Given the description of an element on the screen output the (x, y) to click on. 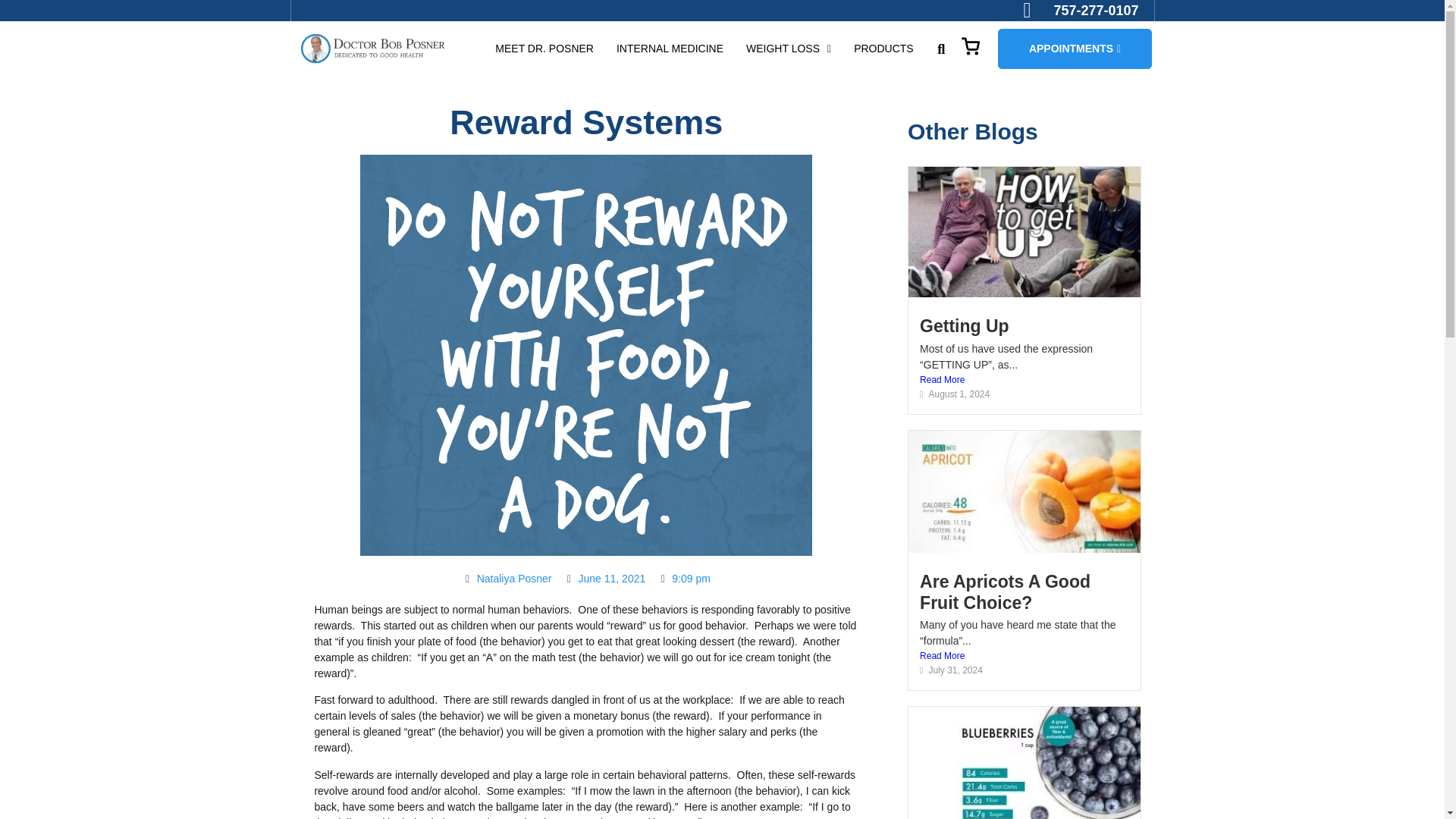
INTERNAL MEDICINE (669, 48)
PRODUCTS (883, 48)
MEET DR. POSNER (544, 48)
APPOINTMENTS (1074, 48)
Getting Up (964, 325)
757-277-0107 (1080, 10)
WEIGHT LOSS (788, 48)
Are Apricots A Good Fruit Choice? (1005, 591)
